Given the description of an element on the screen output the (x, y) to click on. 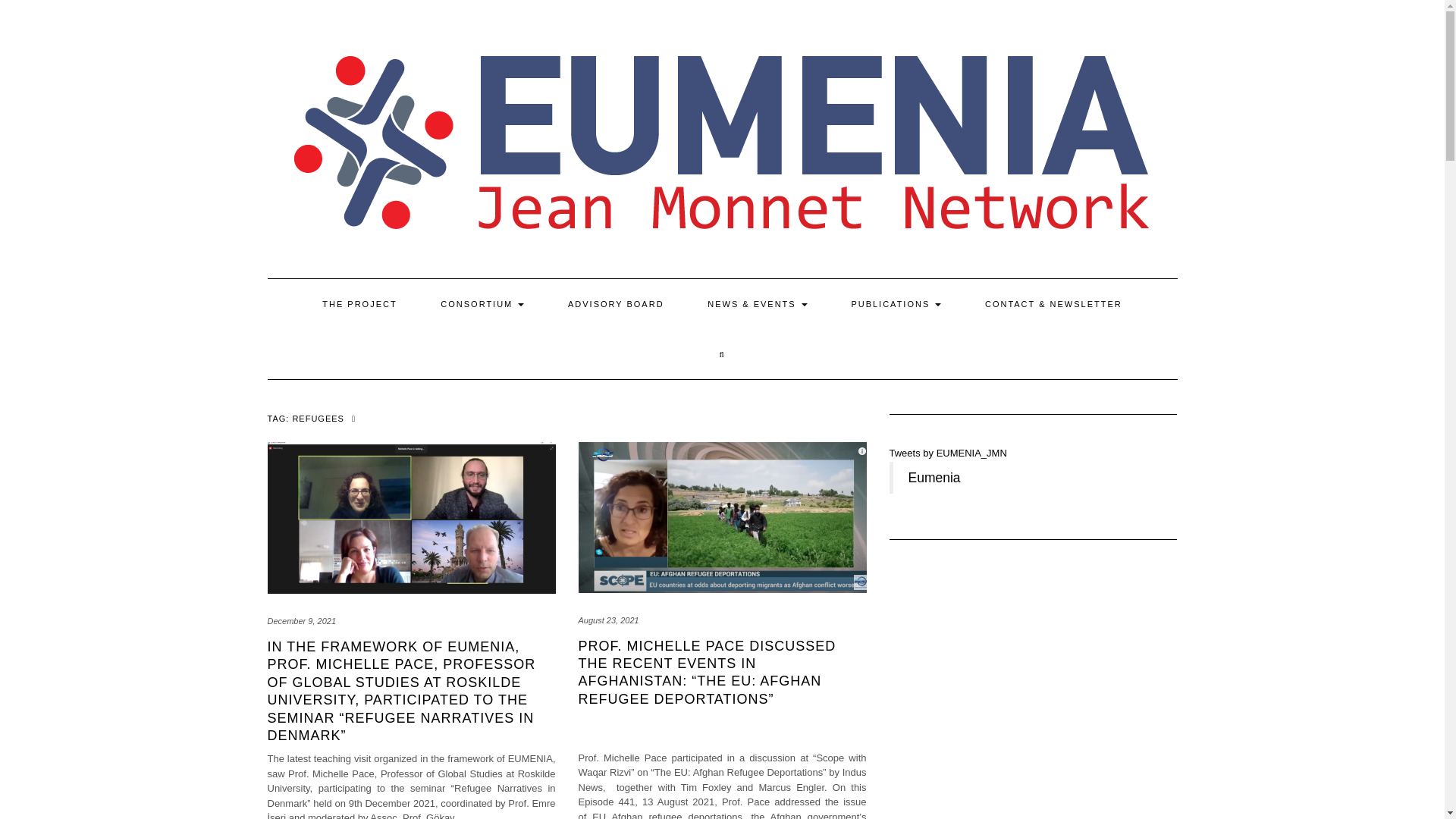
December 9, 2021 (301, 620)
THE PROJECT (358, 304)
ADVISORY BOARD (615, 304)
PUBLICATIONS (894, 304)
August 23, 2021 (608, 619)
CONSORTIUM (482, 304)
